Given the description of an element on the screen output the (x, y) to click on. 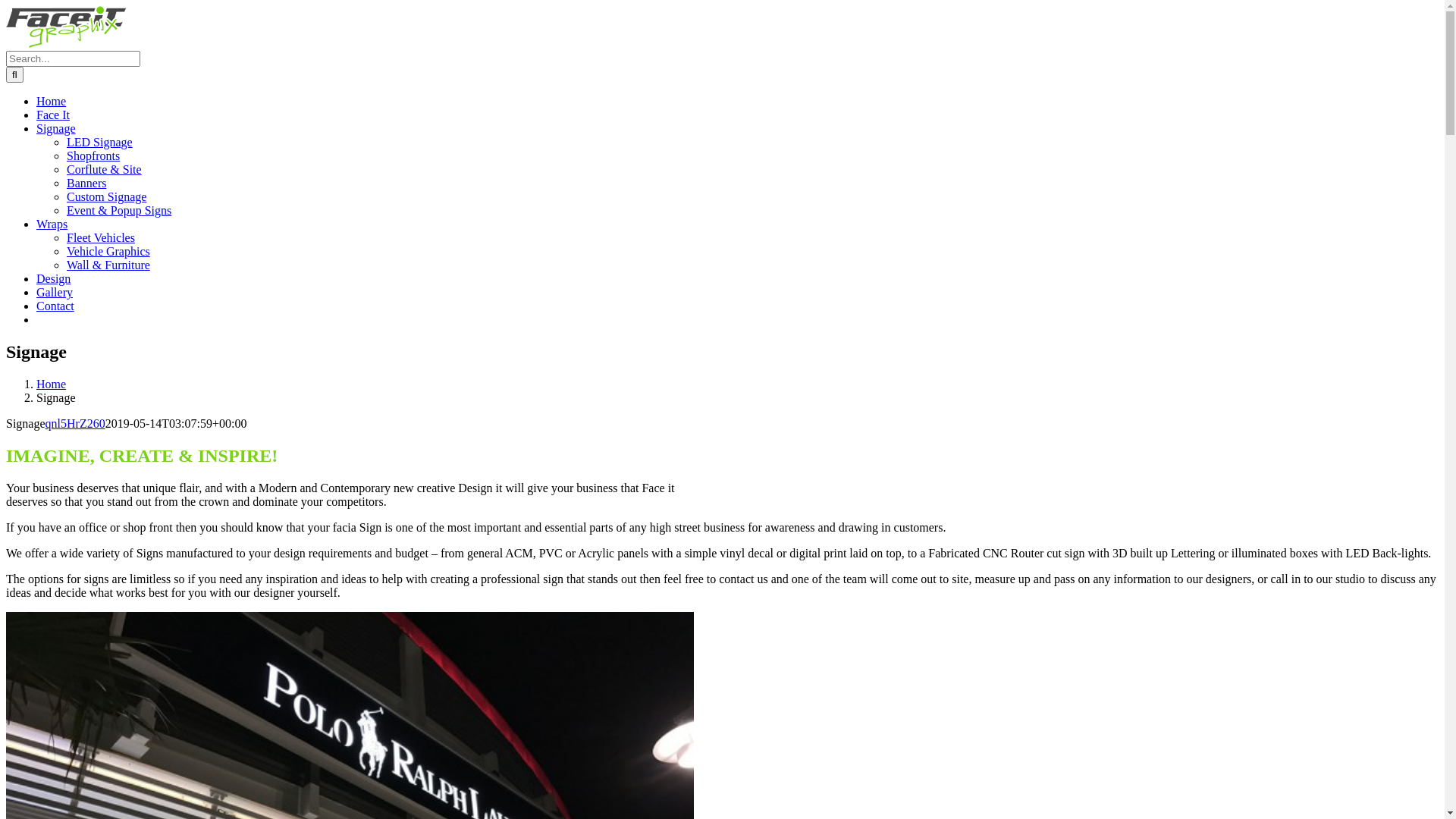
Wall & Furniture Element type: text (108, 264)
LED Signage Element type: text (99, 141)
Wraps Element type: text (51, 223)
Skip to content Element type: text (5, 5)
Home Element type: text (50, 100)
Home Element type: text (50, 383)
Signage Element type: text (55, 128)
Shopfronts Element type: text (92, 155)
Fleet Vehicles Element type: text (100, 237)
Design Element type: text (53, 278)
Contact Element type: text (55, 305)
Event & Popup Signs Element type: text (118, 209)
Banners Element type: text (86, 182)
Custom Signage Element type: text (106, 196)
Gallery Element type: text (54, 291)
Vehicle Graphics Element type: text (108, 250)
Corflute & Site Element type: text (103, 169)
qnl5HrZ260 Element type: text (75, 423)
Face It Element type: text (52, 114)
